Given the description of an element on the screen output the (x, y) to click on. 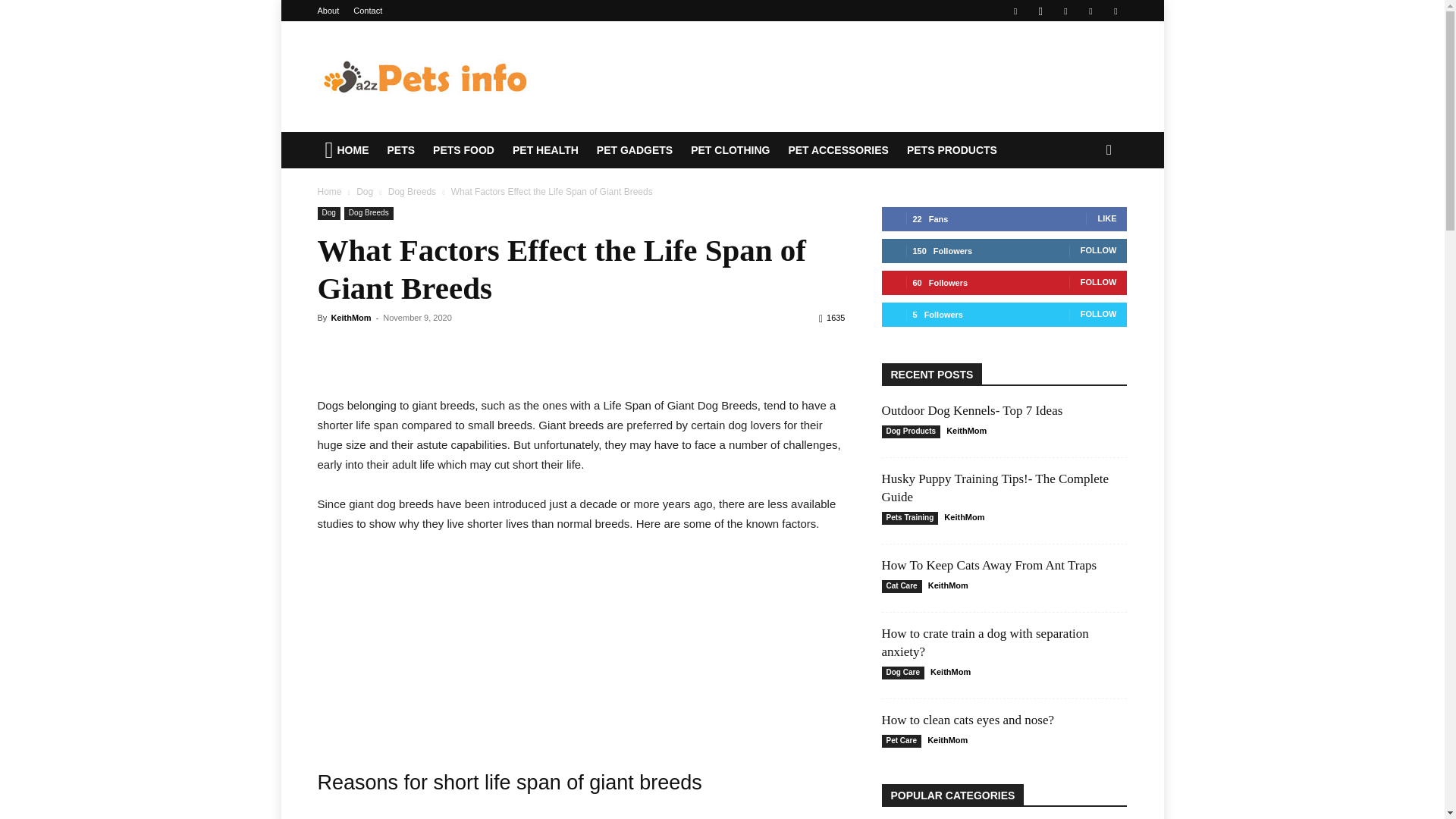
Contact (367, 10)
a2zpetsinfo.com (425, 76)
Pinterest (1065, 10)
Instagram (1040, 10)
Twitter (1090, 10)
About (328, 10)
Youtube (1114, 10)
HOME (347, 149)
PETS (401, 149)
Facebook (1015, 10)
